Given the description of an element on the screen output the (x, y) to click on. 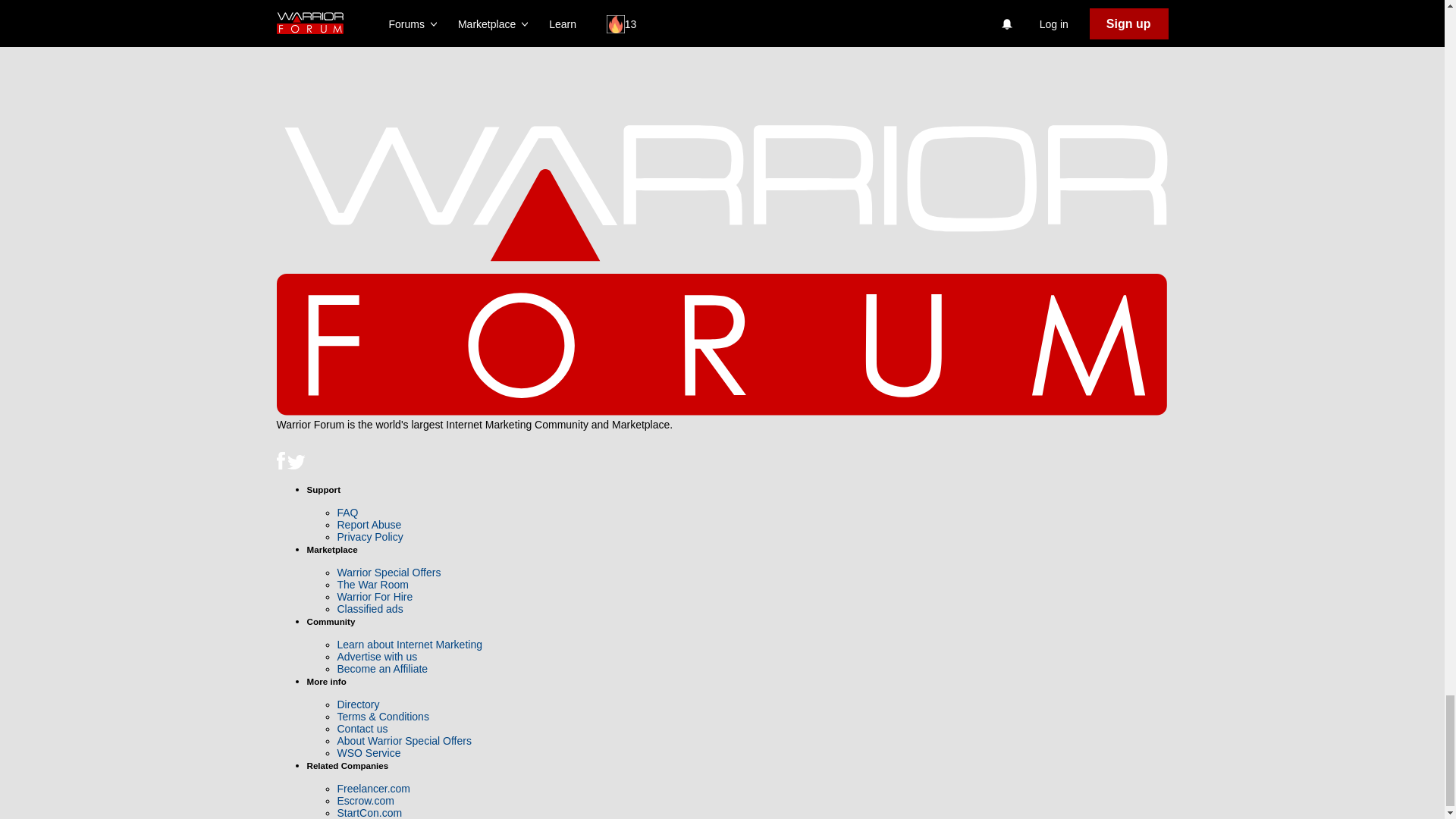
Warrior Forum on Facebook (281, 466)
Bird (295, 462)
Warrior Forum on Twitter (295, 466)
